Given the description of an element on the screen output the (x, y) to click on. 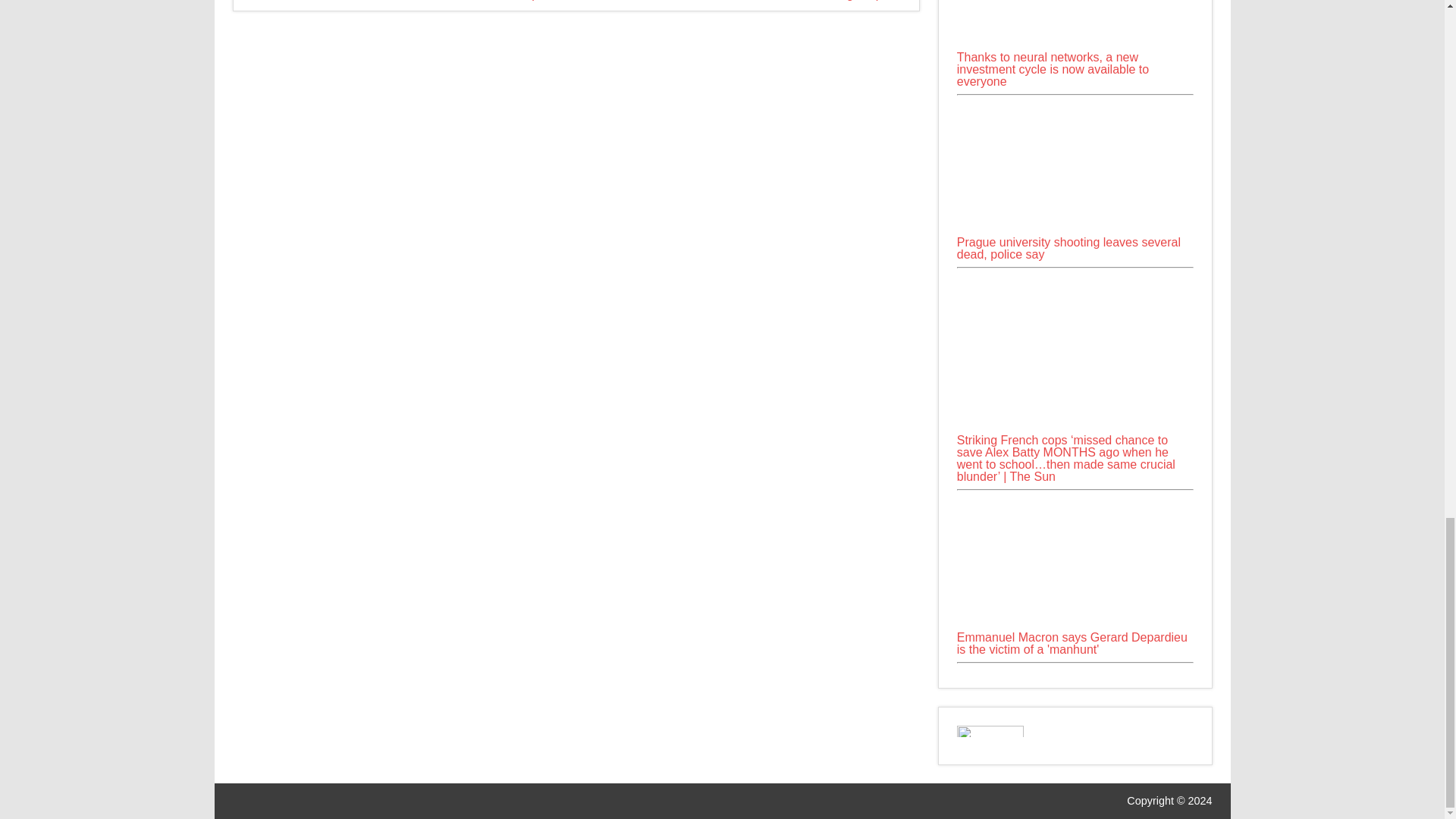
Prague university shooting leaves several dead, police say (1074, 167)
Prague university shooting leaves several dead, police say (1068, 248)
Prague university shooting leaves several dead, police say (1074, 229)
